Given the description of an element on the screen output the (x, y) to click on. 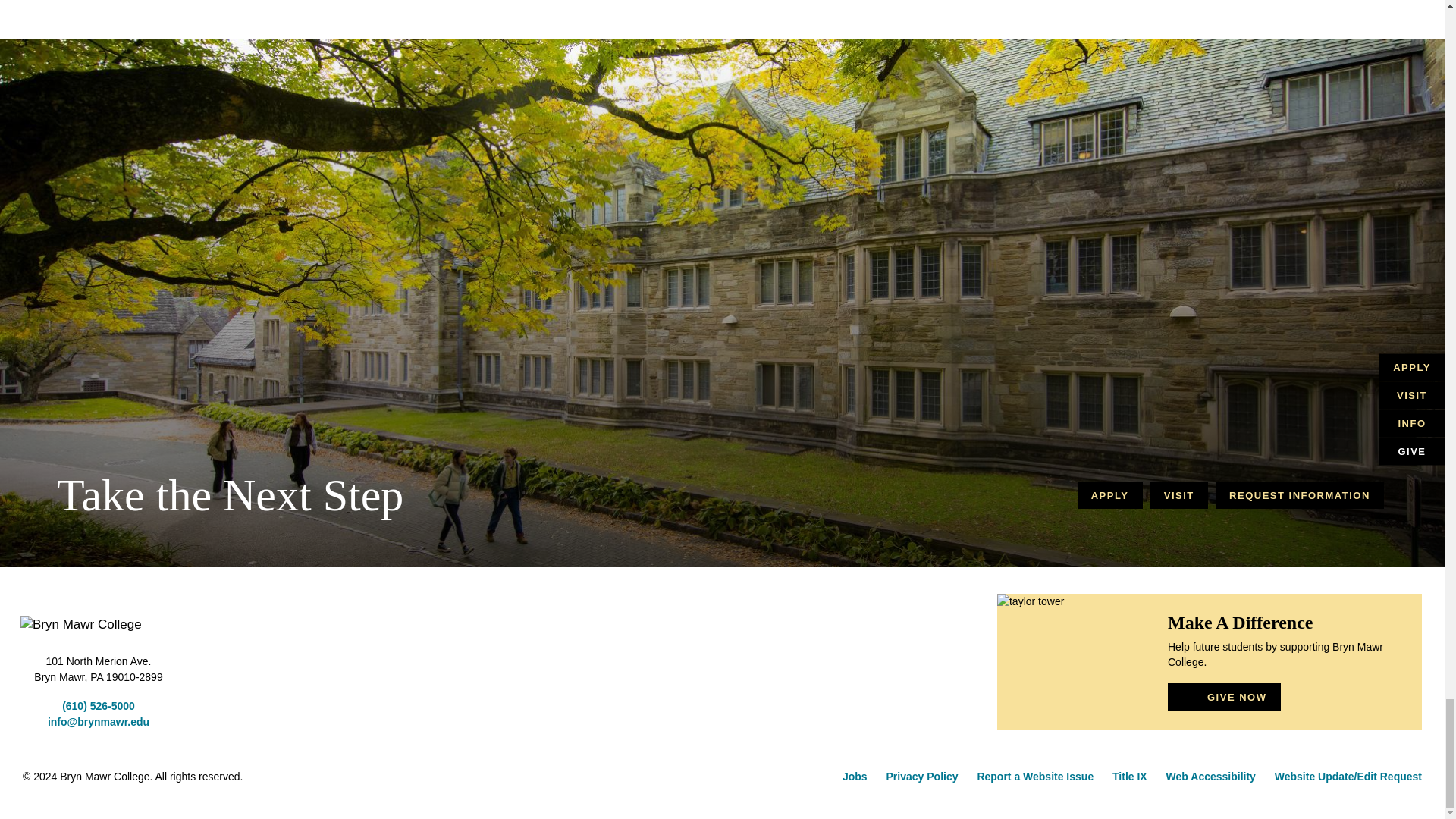
Update link with node (922, 776)
